Given the description of an element on the screen output the (x, y) to click on. 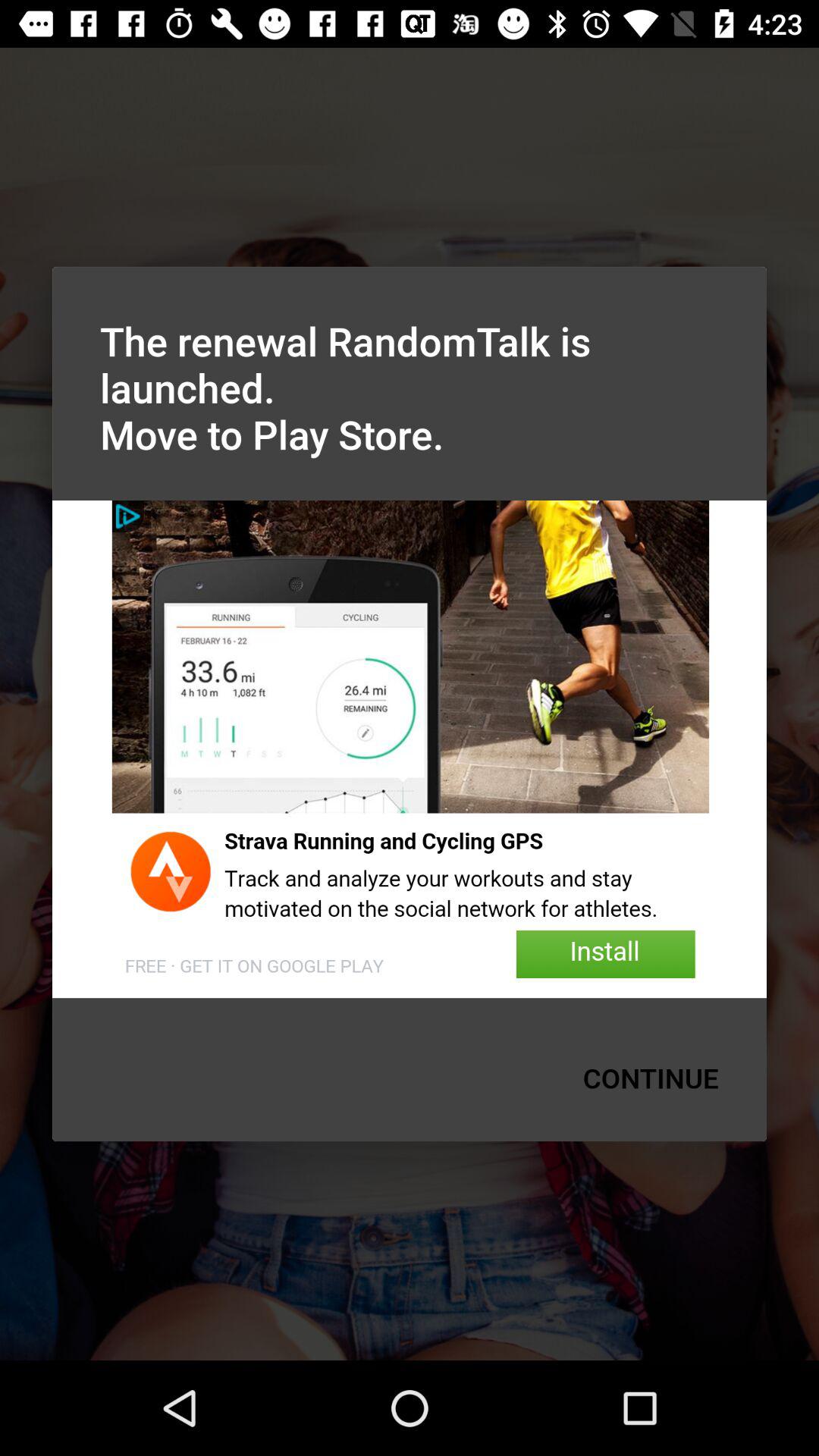
advertisement (409, 749)
